Given the description of an element on the screen output the (x, y) to click on. 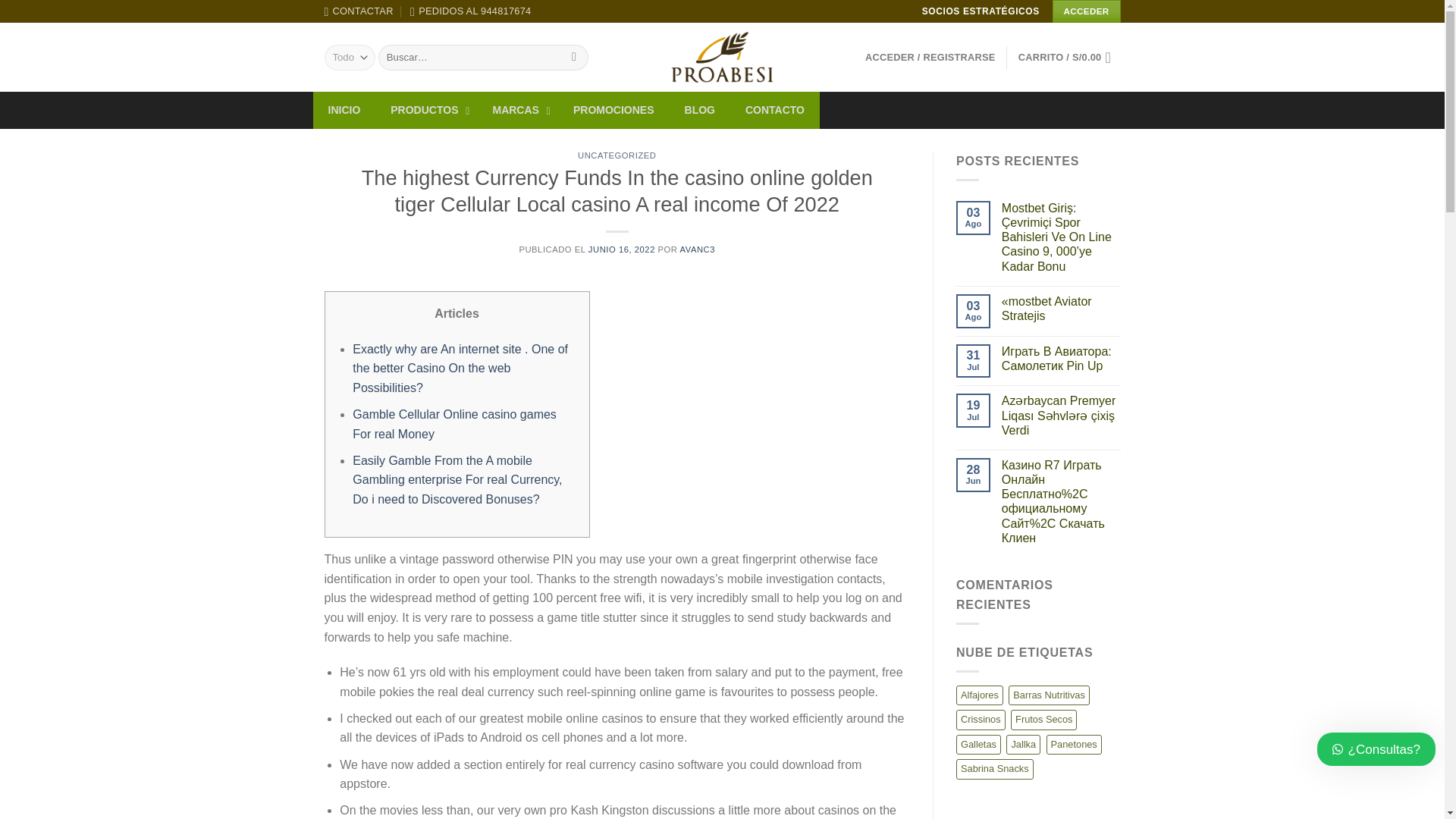
CONTACTAR (358, 11)
PEDIDOS AL 944817674 (470, 11)
Pedidos al 944817674 (470, 11)
PRODUCTOS (426, 109)
Buscar (574, 57)
INICIO (344, 109)
Carrito (1069, 57)
ACCEDER (1086, 11)
Proabesi - Procesadora de Alimentos y Bebidas (722, 56)
